Given the description of an element on the screen output the (x, y) to click on. 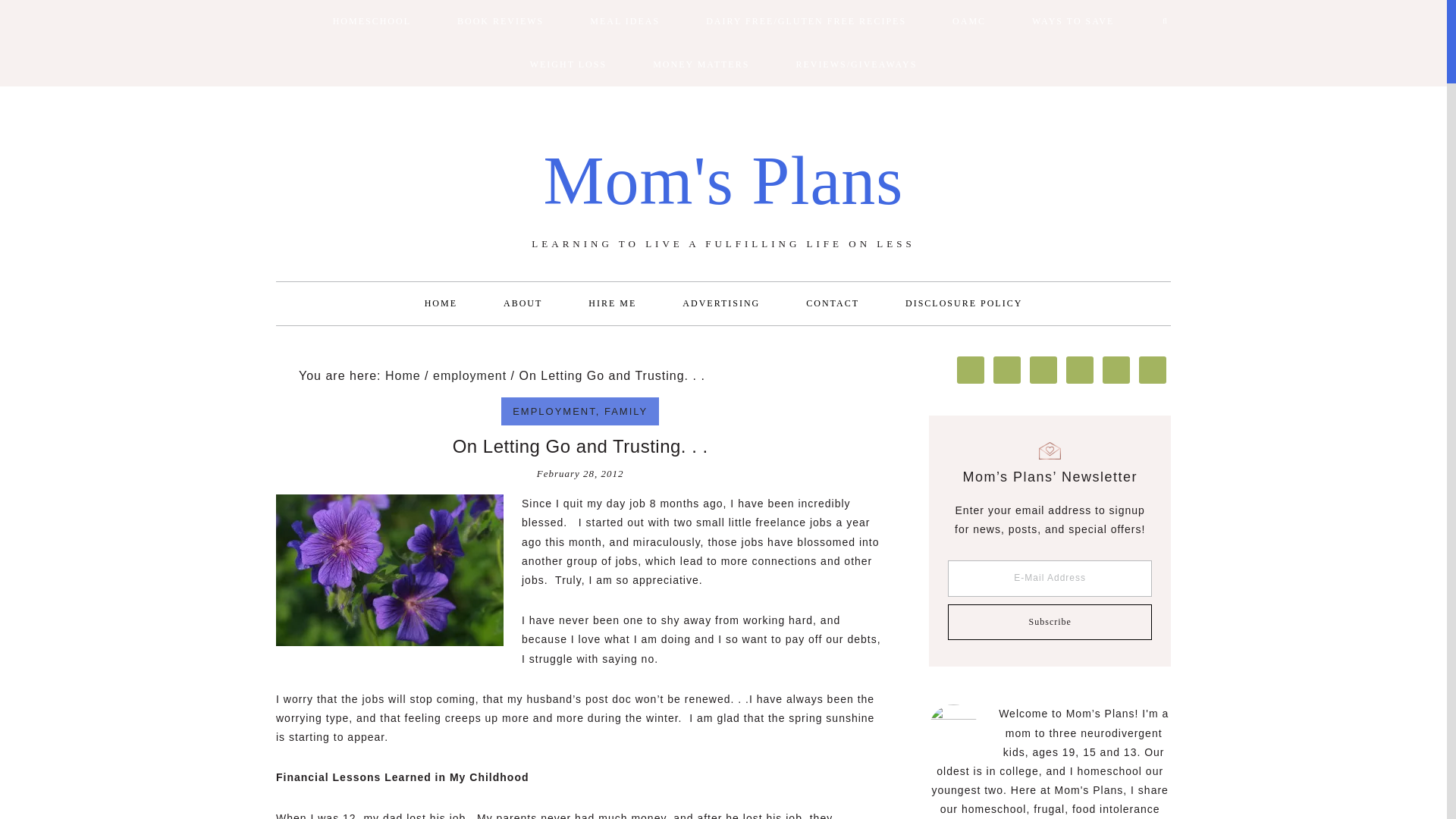
Flowers001 (389, 570)
OAMC (969, 21)
CONTACT (832, 303)
HOMESCHOOL (371, 21)
MONEY MATTERS (700, 64)
ADVERTISING (720, 303)
BOOK REVIEWS (499, 21)
HOME (441, 303)
HIRE ME (612, 303)
